Given the description of an element on the screen output the (x, y) to click on. 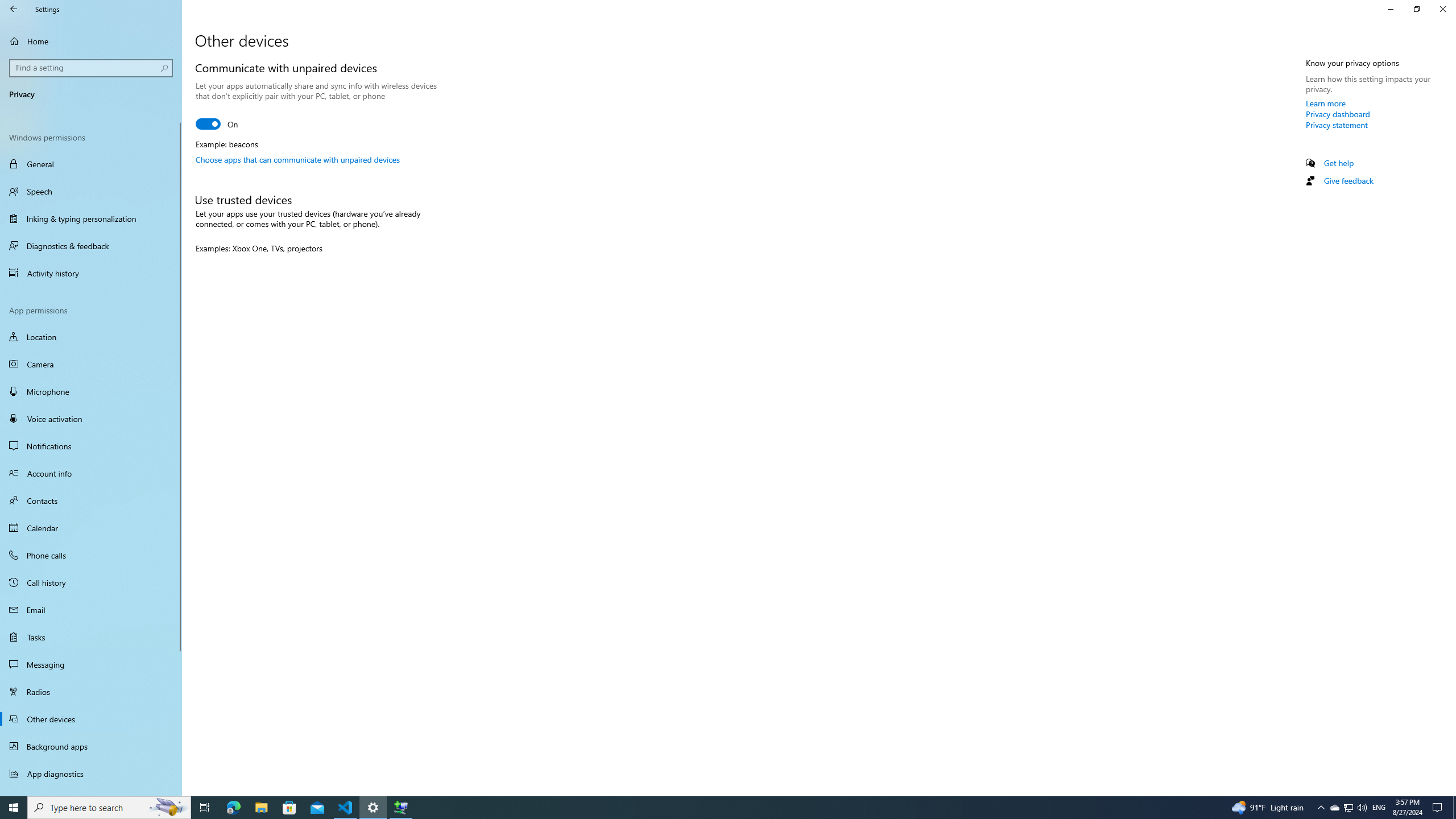
Messaging (91, 664)
Learn more (1326, 102)
Phone calls (91, 554)
Choose apps that can communicate with unpaired devices (297, 158)
Diagnostics & feedback (91, 245)
Call history (91, 582)
Restore Settings (1416, 9)
Privacy dashboard (1338, 113)
